Given the description of an element on the screen output the (x, y) to click on. 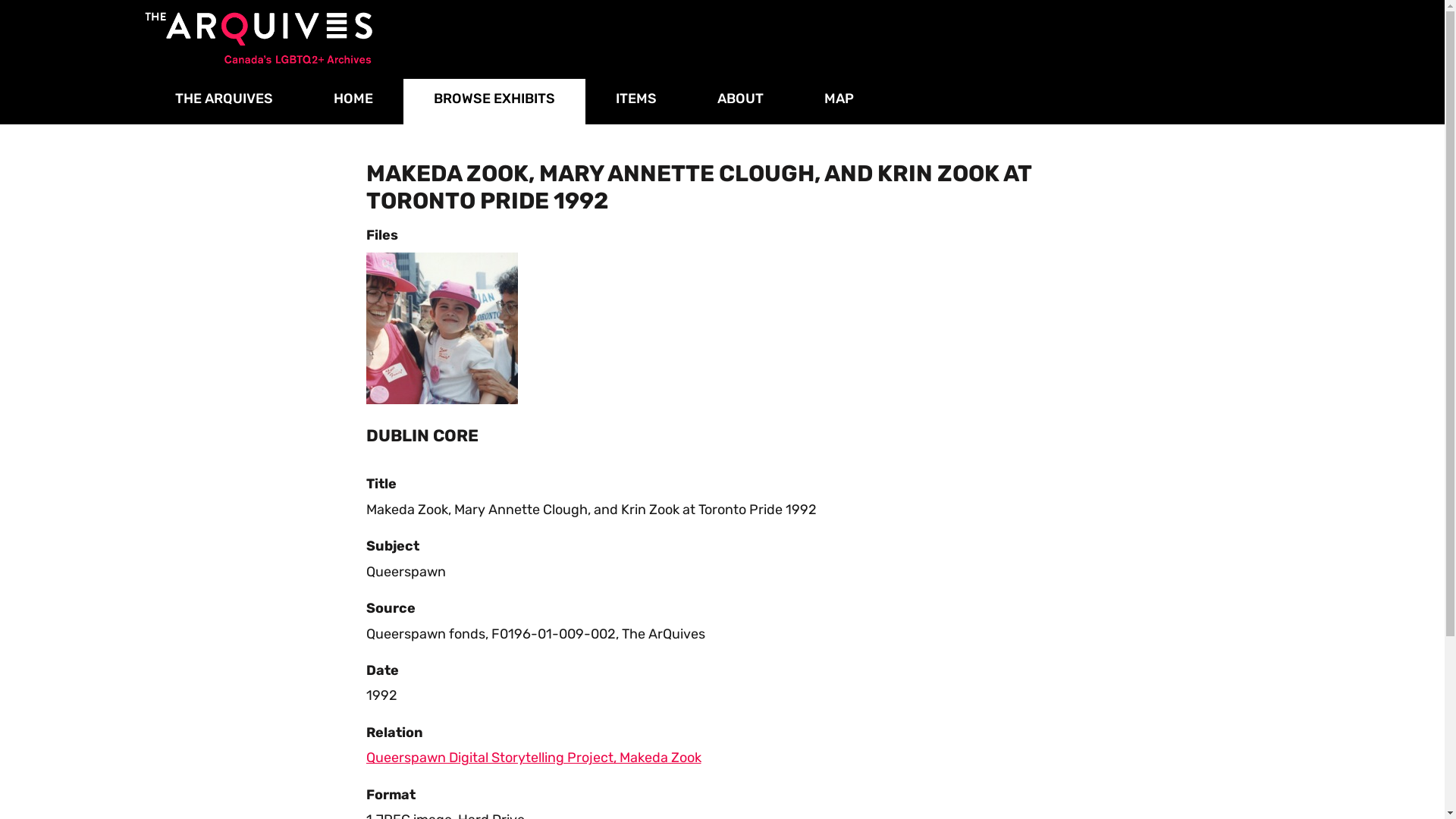
MAP Element type: text (838, 98)
ITEMS Element type: text (636, 98)
BROWSE EXHIBITS Element type: text (494, 101)
ABOUT Element type: text (740, 98)
Queerspawn Digital Storytelling Project, Makeda Zook Element type: text (532, 757)
THE ARQUIVES Element type: text (223, 98)
F0196-01-009-002.jpg Element type: hover (441, 328)
HOME Element type: text (353, 98)
